Given the description of an element on the screen output the (x, y) to click on. 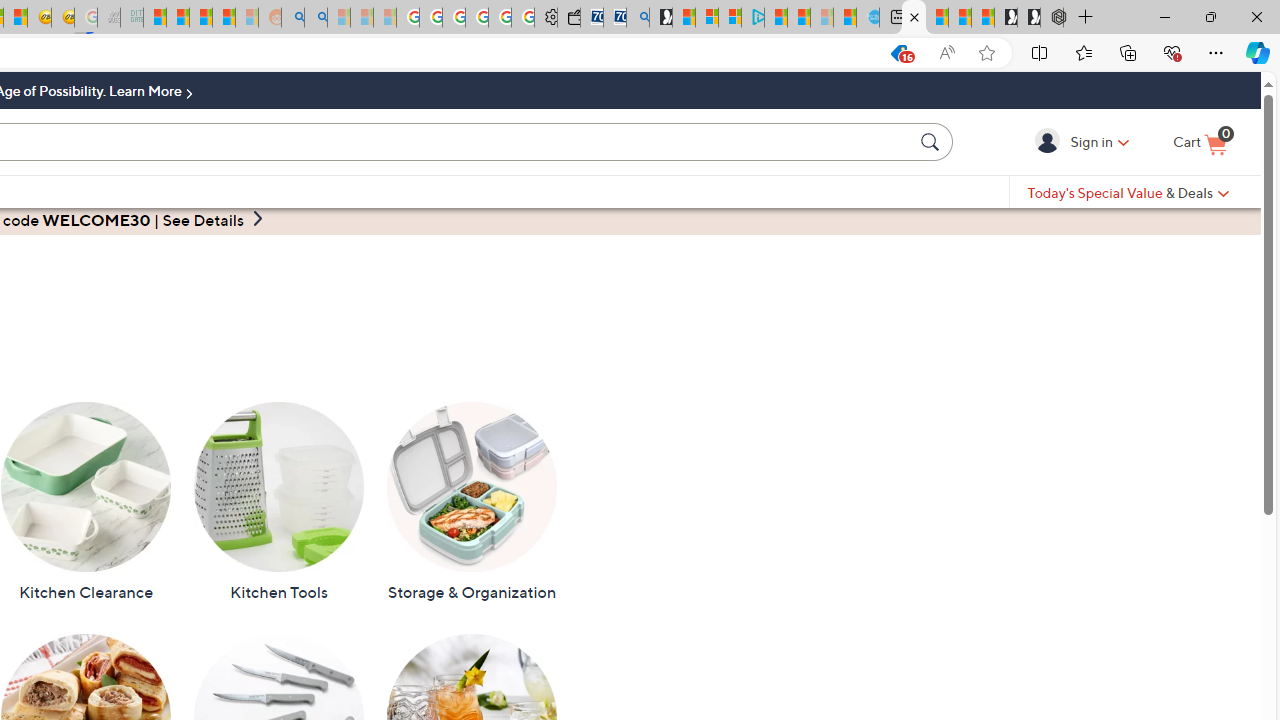
Today's Special Value & Deals (1128, 192)
Search Submit (932, 141)
